Given the description of an element on the screen output the (x, y) to click on. 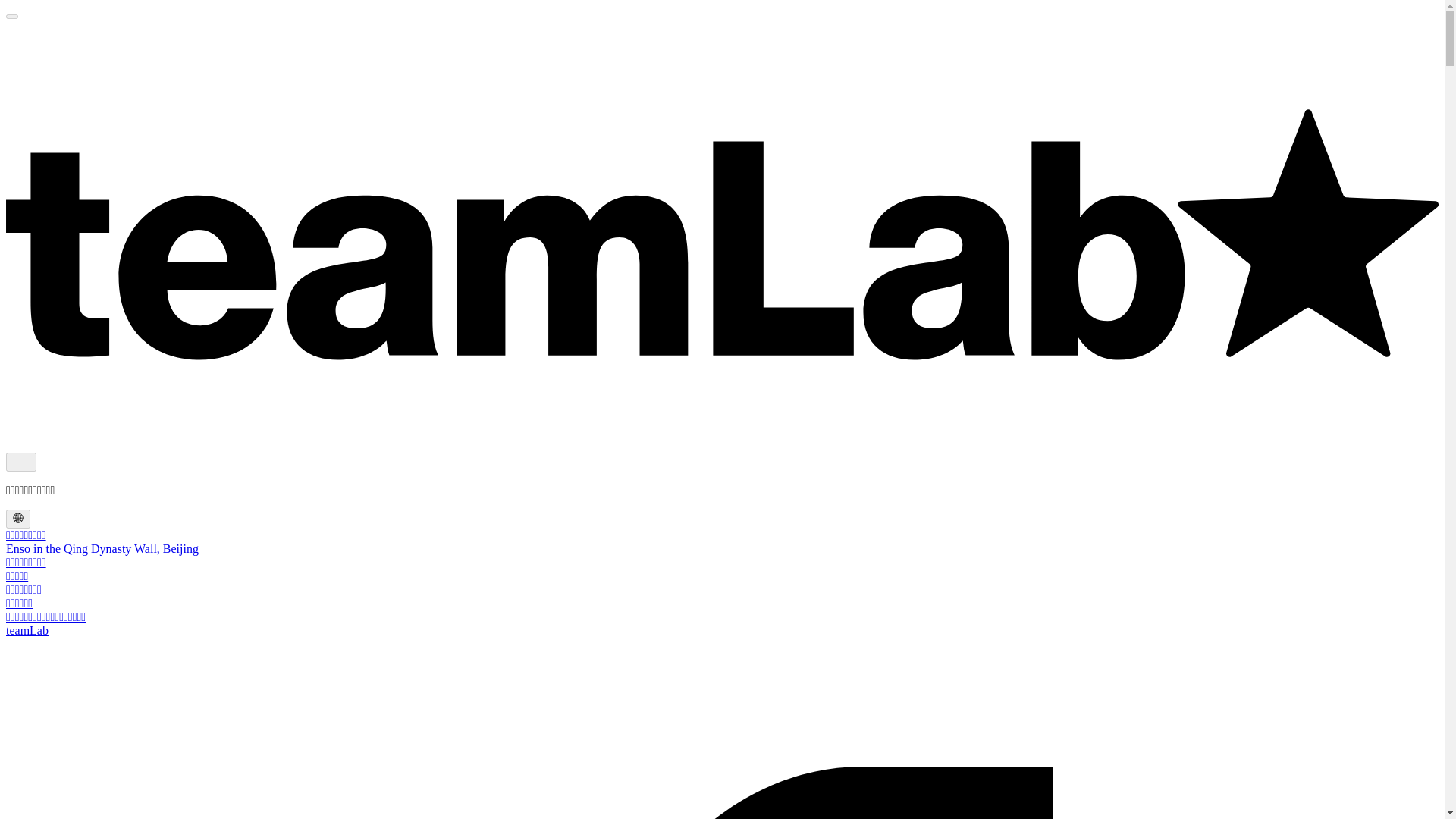
teamLab (26, 630)
